Given the description of an element on the screen output the (x, y) to click on. 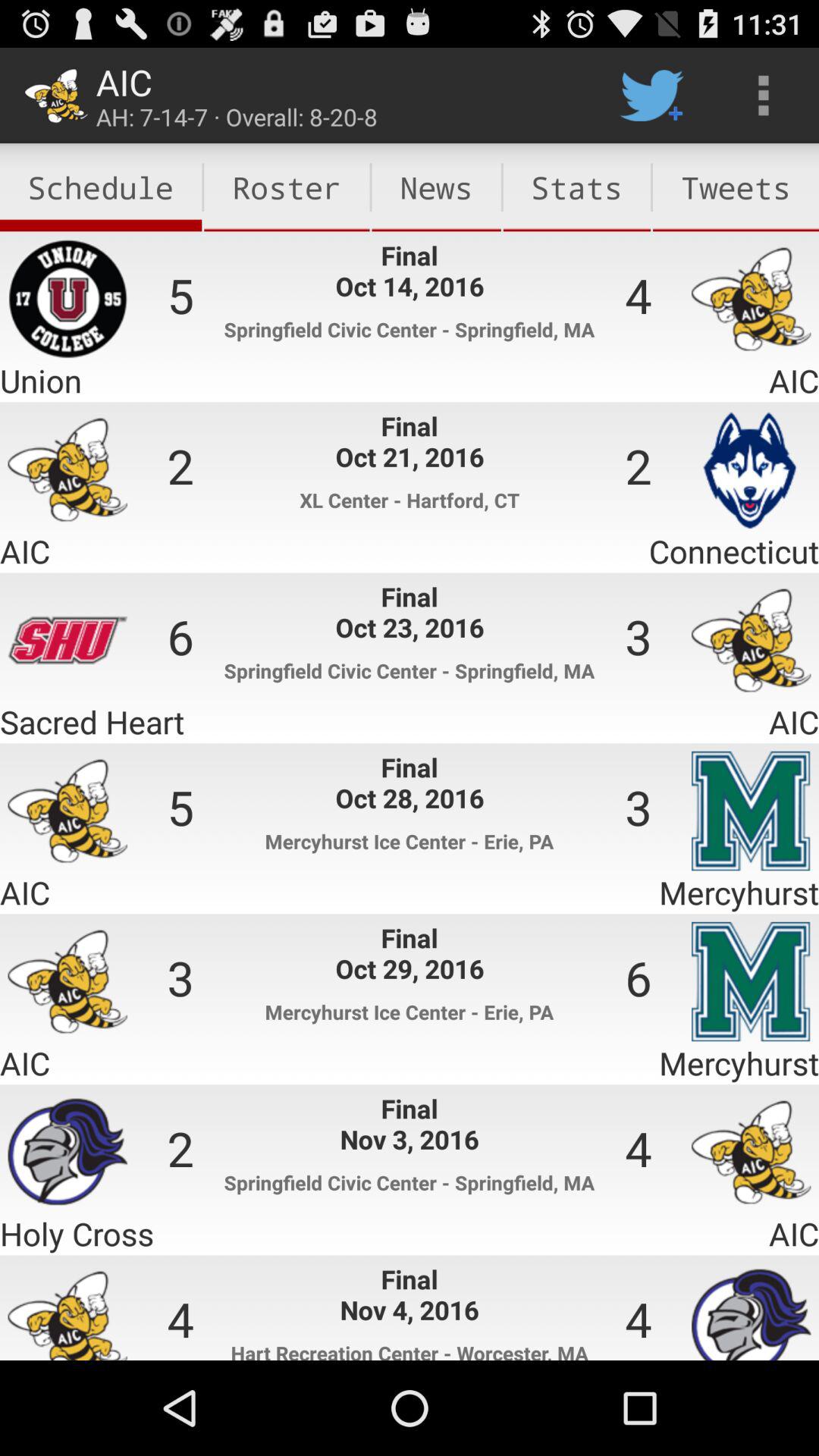
launch item to the left of stats icon (436, 187)
